Given the description of an element on the screen output the (x, y) to click on. 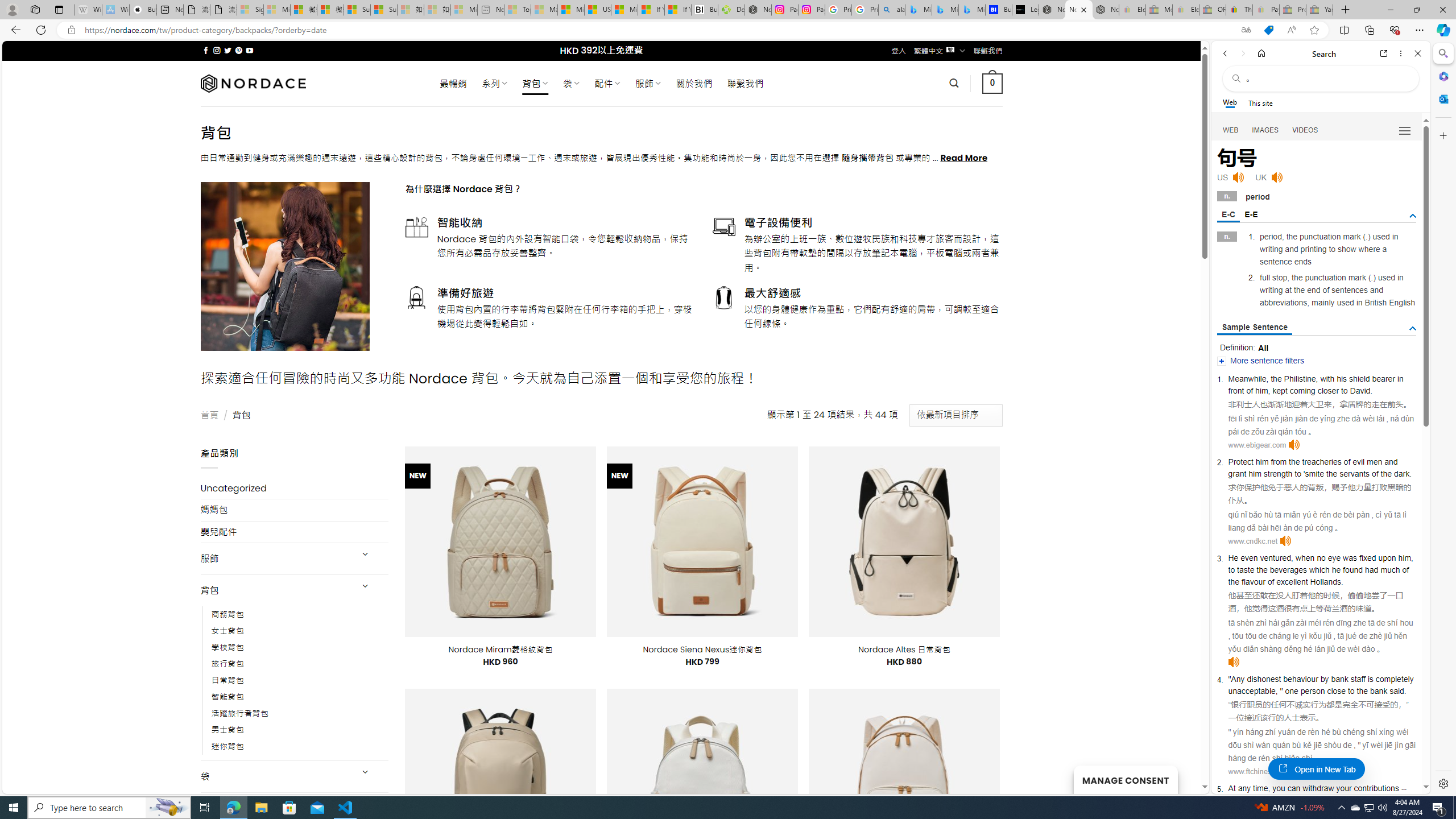
WEB (1231, 130)
fixed (1366, 557)
front (1235, 390)
evil men (1367, 461)
taste (1246, 569)
Any (1237, 678)
